Given the description of an element on the screen output the (x, y) to click on. 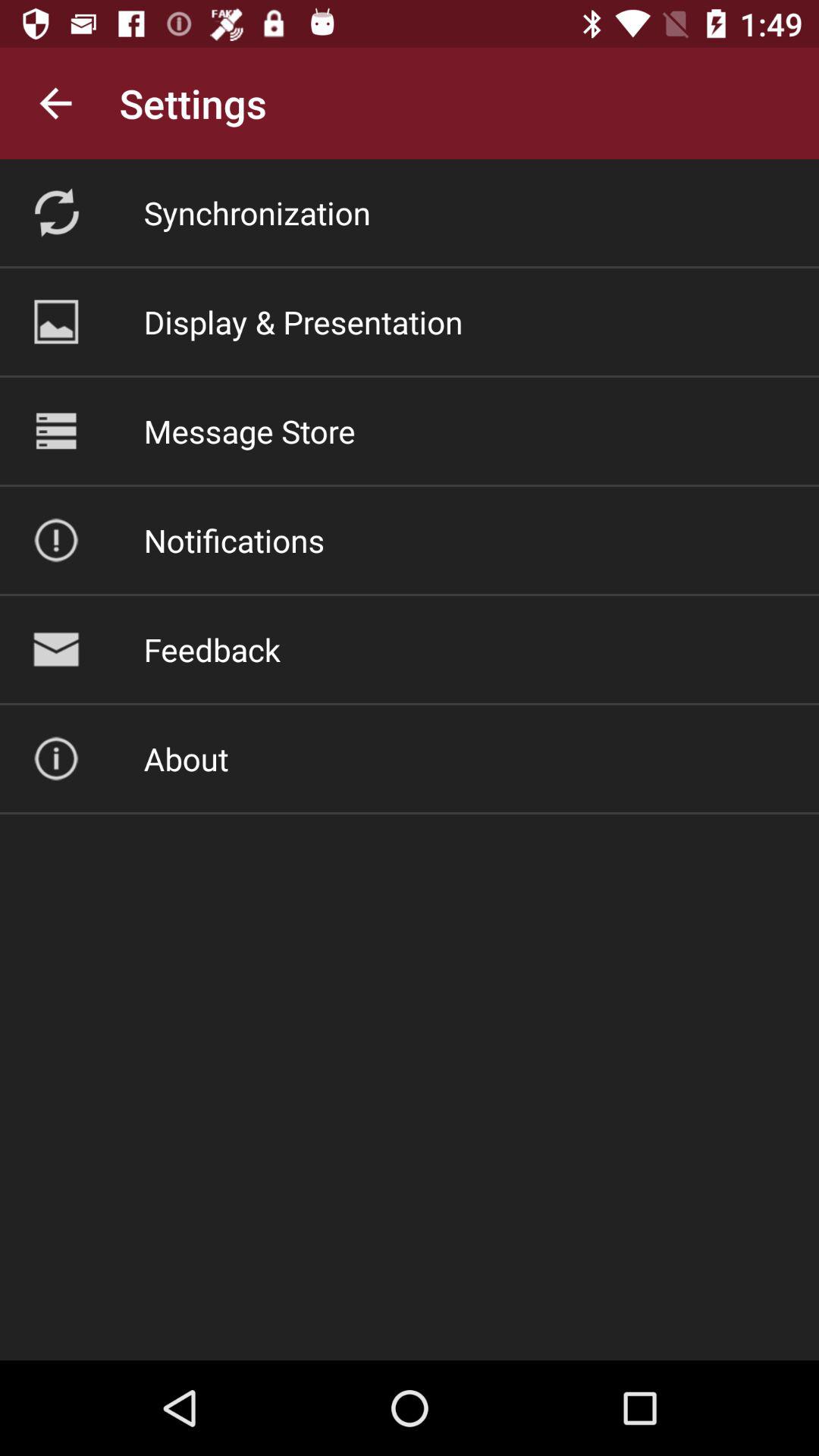
turn on the about item (185, 758)
